Given the description of an element on the screen output the (x, y) to click on. 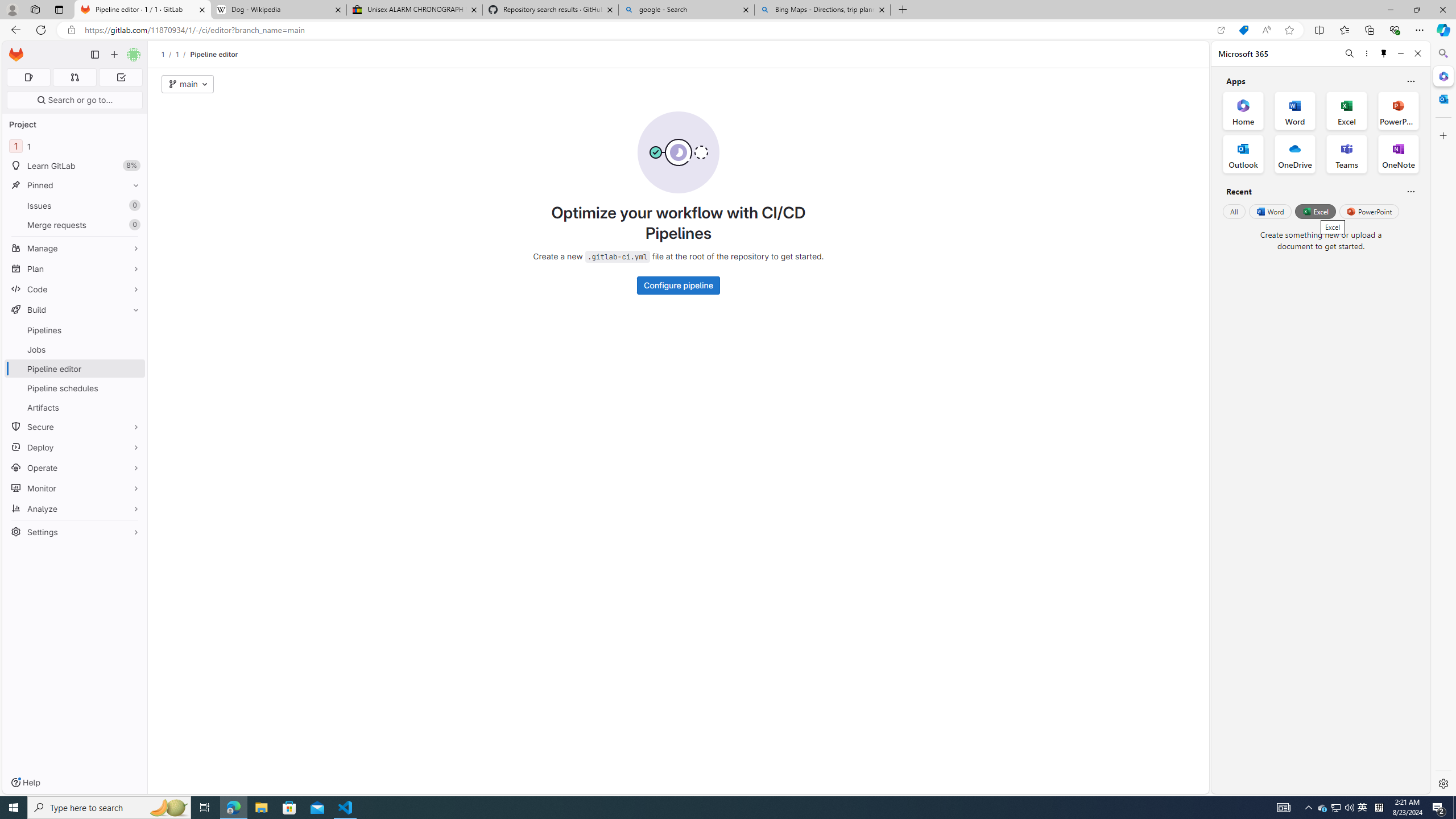
Deploy (74, 447)
Secure (74, 426)
Excel Office App (1346, 110)
Create new... (113, 54)
Open in app (1220, 29)
